Given the description of an element on the screen output the (x, y) to click on. 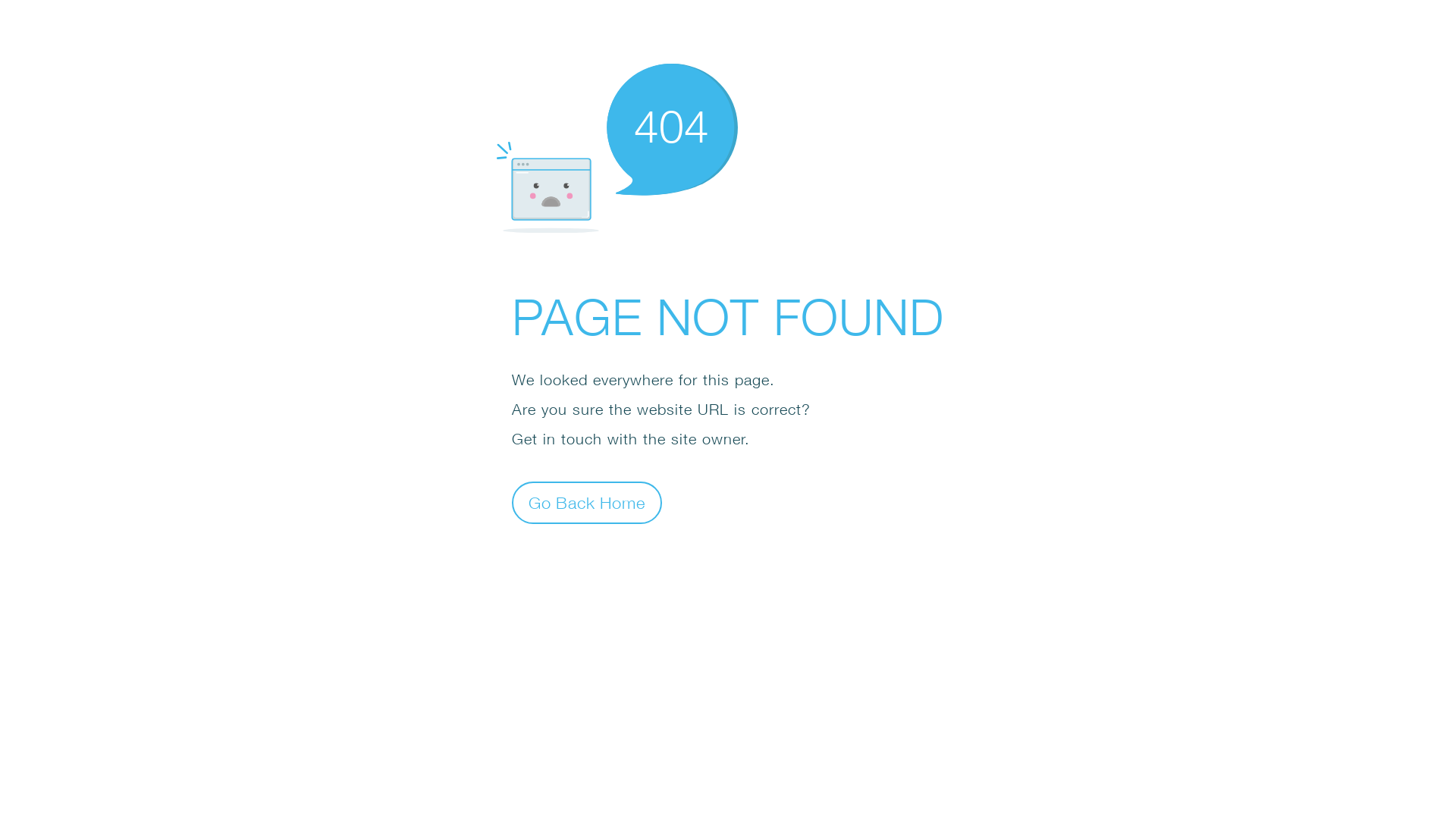
Go Back Home Element type: text (586, 502)
